Given the description of an element on the screen output the (x, y) to click on. 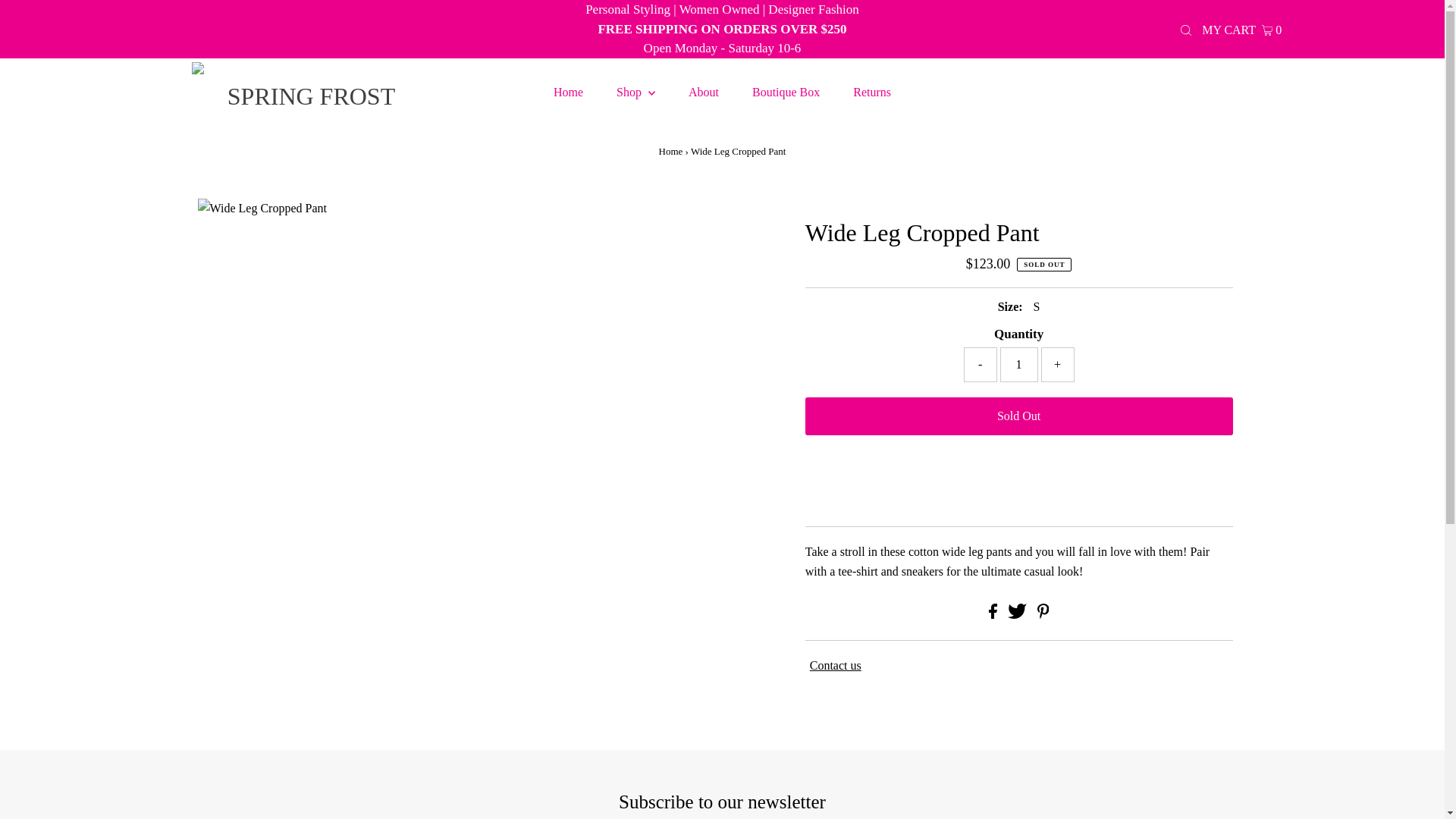
1 (1019, 364)
Home (670, 151)
Sold Out (1019, 415)
Share on Pinterest (1042, 614)
Share on Twitter (1018, 614)
About (702, 92)
